Given the description of an element on the screen output the (x, y) to click on. 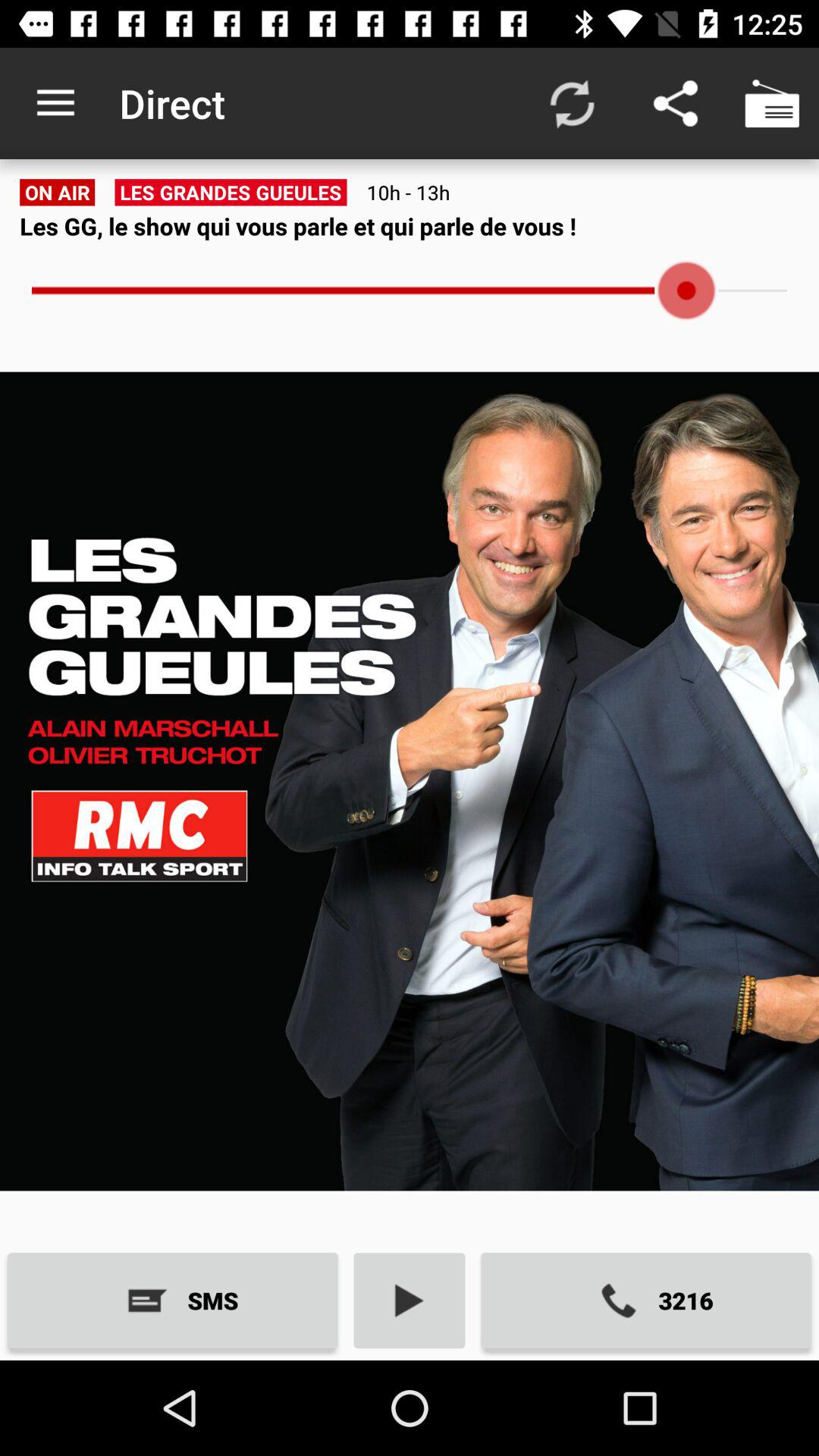
turn on the item above the les gg le item (771, 103)
